Given the description of an element on the screen output the (x, y) to click on. 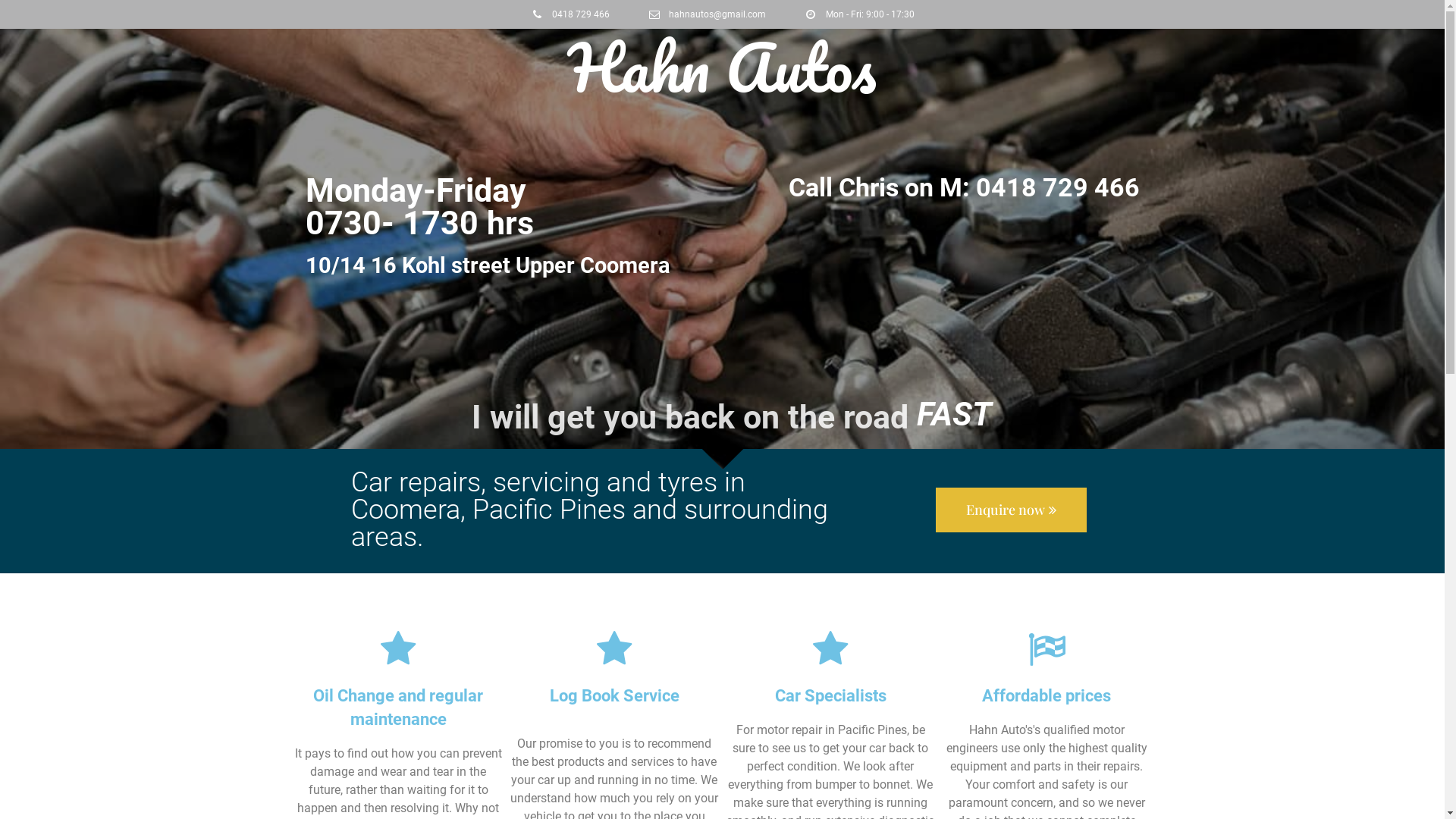
0418 729 466 Element type: text (569, 14)
Call Chris on M: 0418 729 466 Element type: text (963, 187)
Enquire now Element type: text (1010, 509)
10/14 16 Kohl street Upper Coomera Element type: text (486, 265)
hahnautos@gmail.com Element type: text (706, 14)
